Given the description of an element on the screen output the (x, y) to click on. 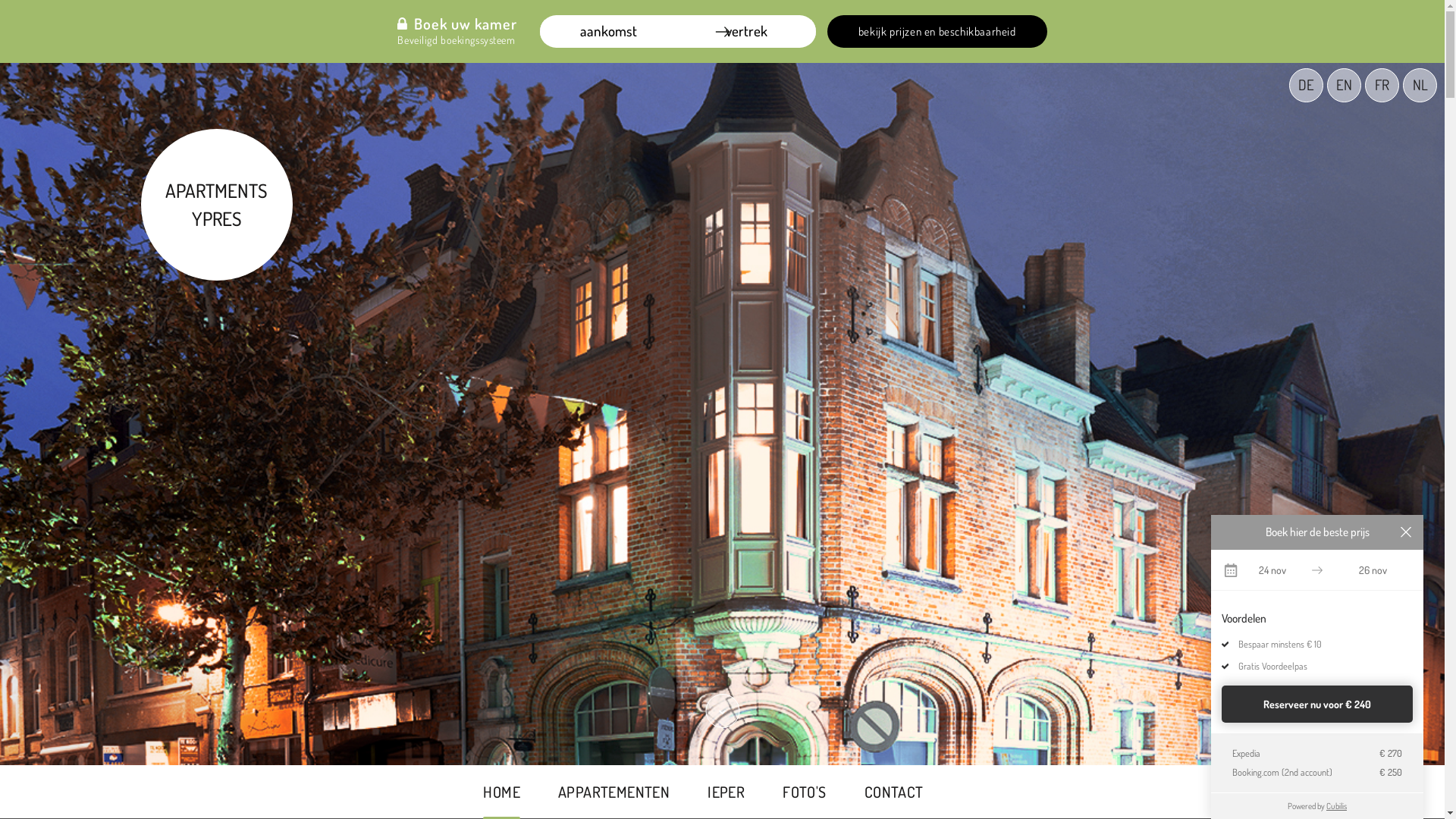
FOTO'S Element type: text (803, 791)
EN Element type: text (1344, 85)
HOME Element type: text (501, 791)
Cubilis Element type: text (1336, 805)
NL Element type: text (1419, 85)
FR Element type: text (1382, 85)
APPARTEMENTEN Element type: text (613, 791)
DE Element type: text (1306, 85)
bekijk prijzen en beschikbaarheid Element type: text (937, 31)
CONTACT Element type: text (893, 791)
IEPER Element type: text (725, 791)
